Given the description of an element on the screen output the (x, y) to click on. 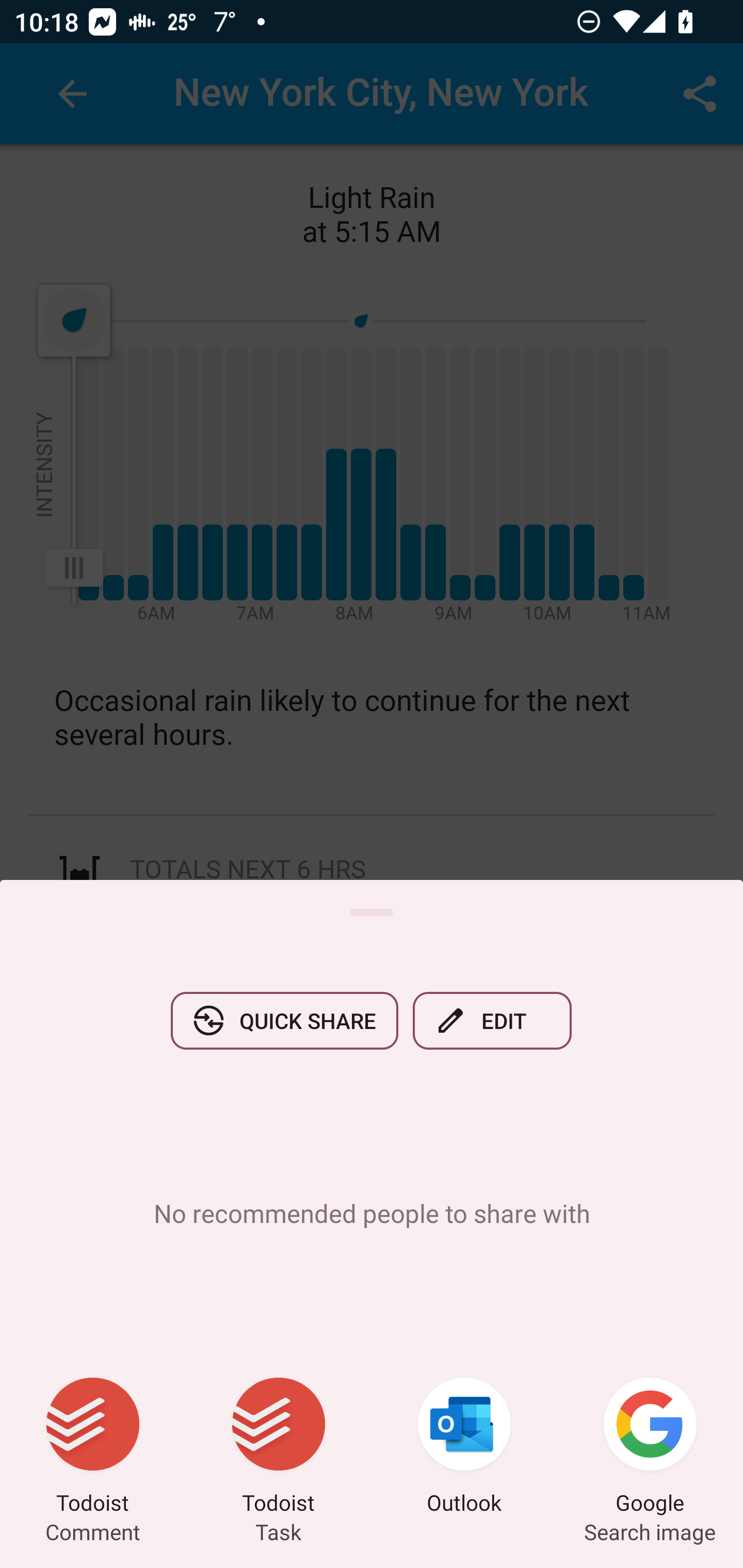
QUICK SHARE (284, 1020)
EDIT (492, 1020)
Todoist Comment (92, 1448)
Todoist Task (278, 1448)
Outlook (464, 1448)
Google Search image (650, 1448)
